Given the description of an element on the screen output the (x, y) to click on. 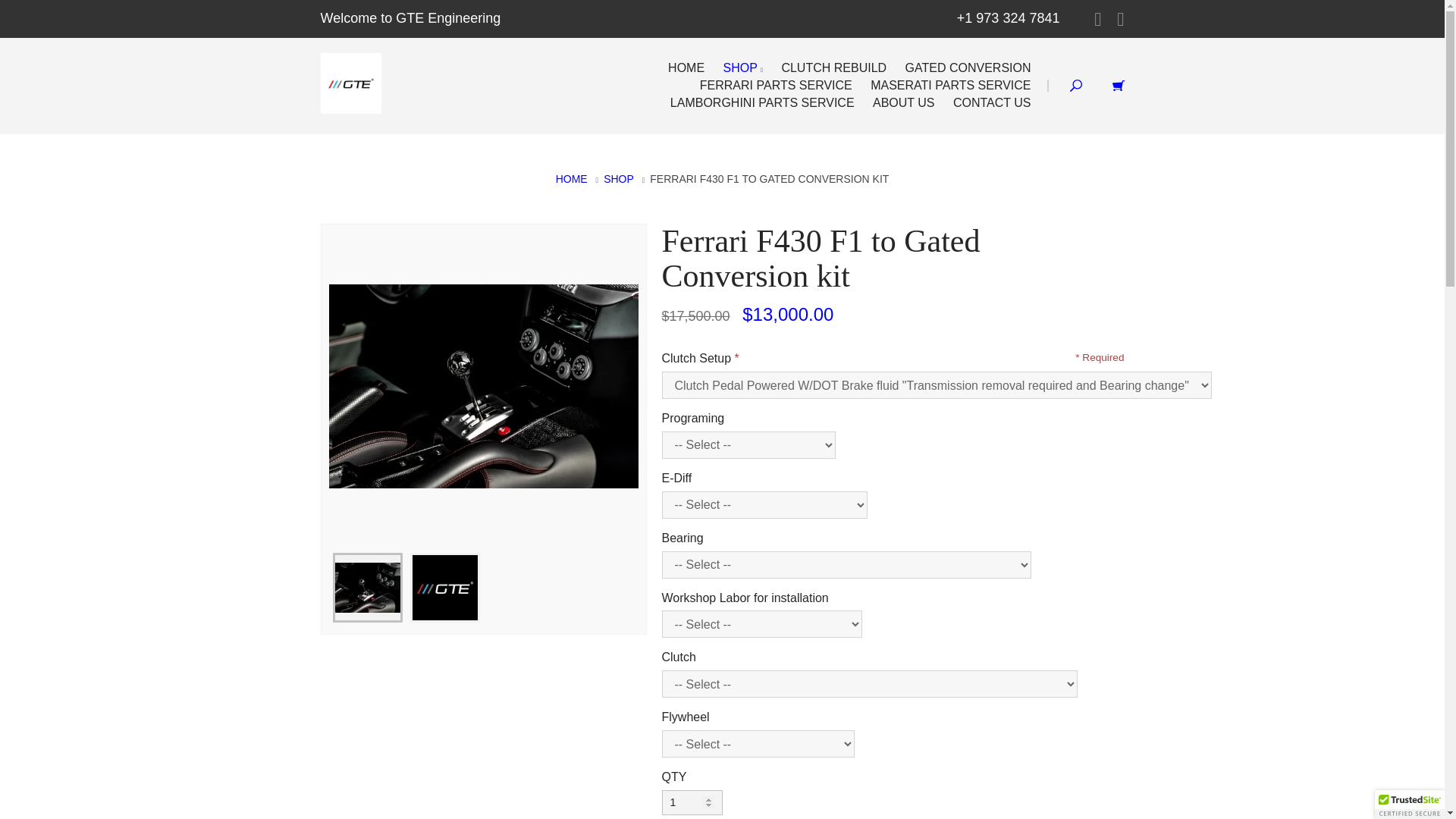
FERRARI PARTS SERVICE (776, 84)
SHOP (618, 178)
HOME (572, 178)
SHOP (743, 67)
MASERATI PARTS SERVICE (950, 84)
GATED CONVERSION (968, 67)
LAMBORGHINI PARTS SERVICE (761, 102)
HOME (686, 67)
CONTACT US (991, 102)
1 (691, 802)
CLUTCH REBUILD (833, 67)
ABOUT US (903, 102)
